Given the description of an element on the screen output the (x, y) to click on. 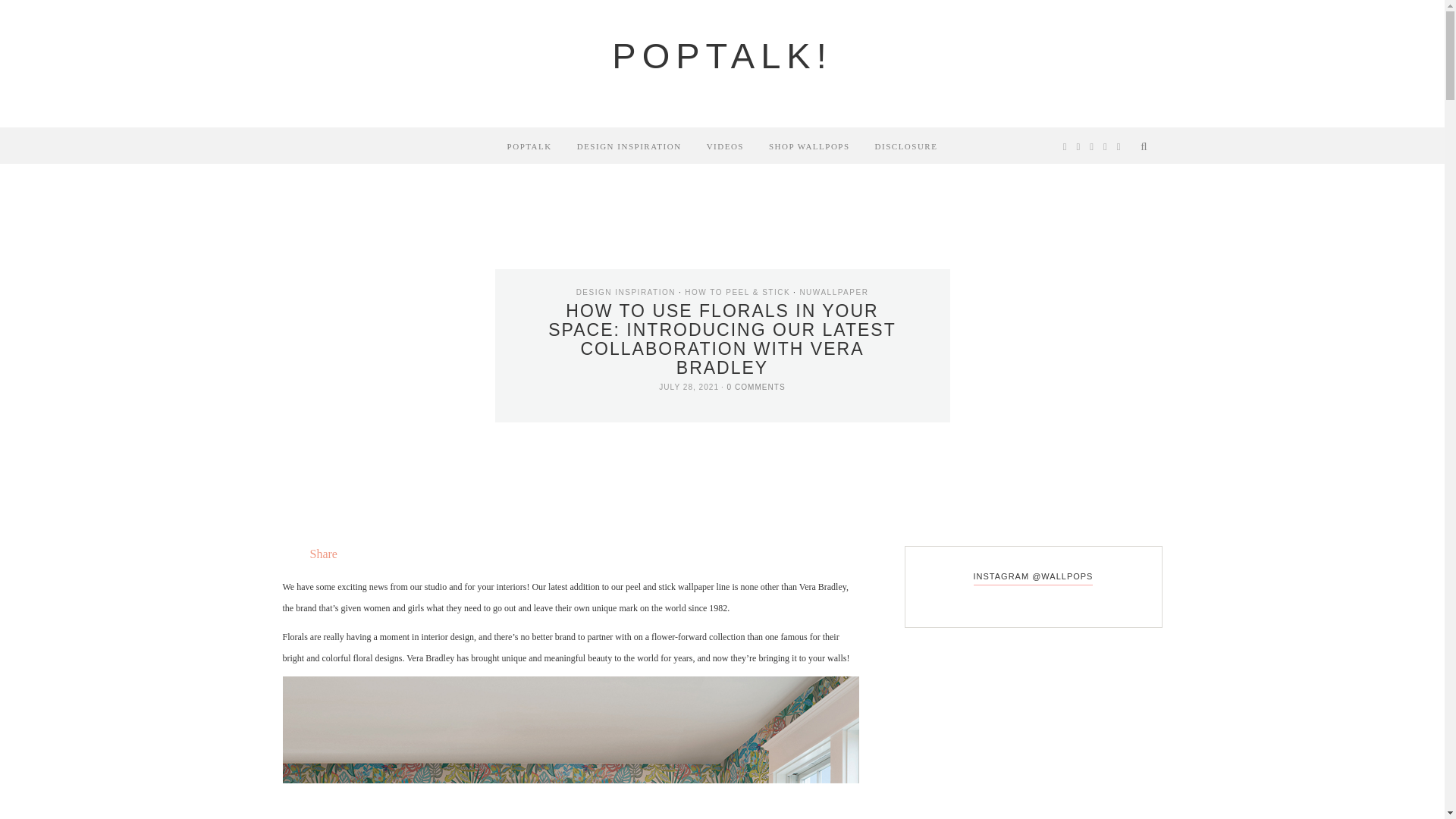
SHOP WALLPOPS (809, 145)
PopTalk! (721, 56)
POPTALK (529, 145)
POPTALK! (721, 56)
DISCLOSURE (906, 145)
VIDEOS (725, 145)
DESIGN INSPIRATION (629, 145)
